Given the description of an element on the screen output the (x, y) to click on. 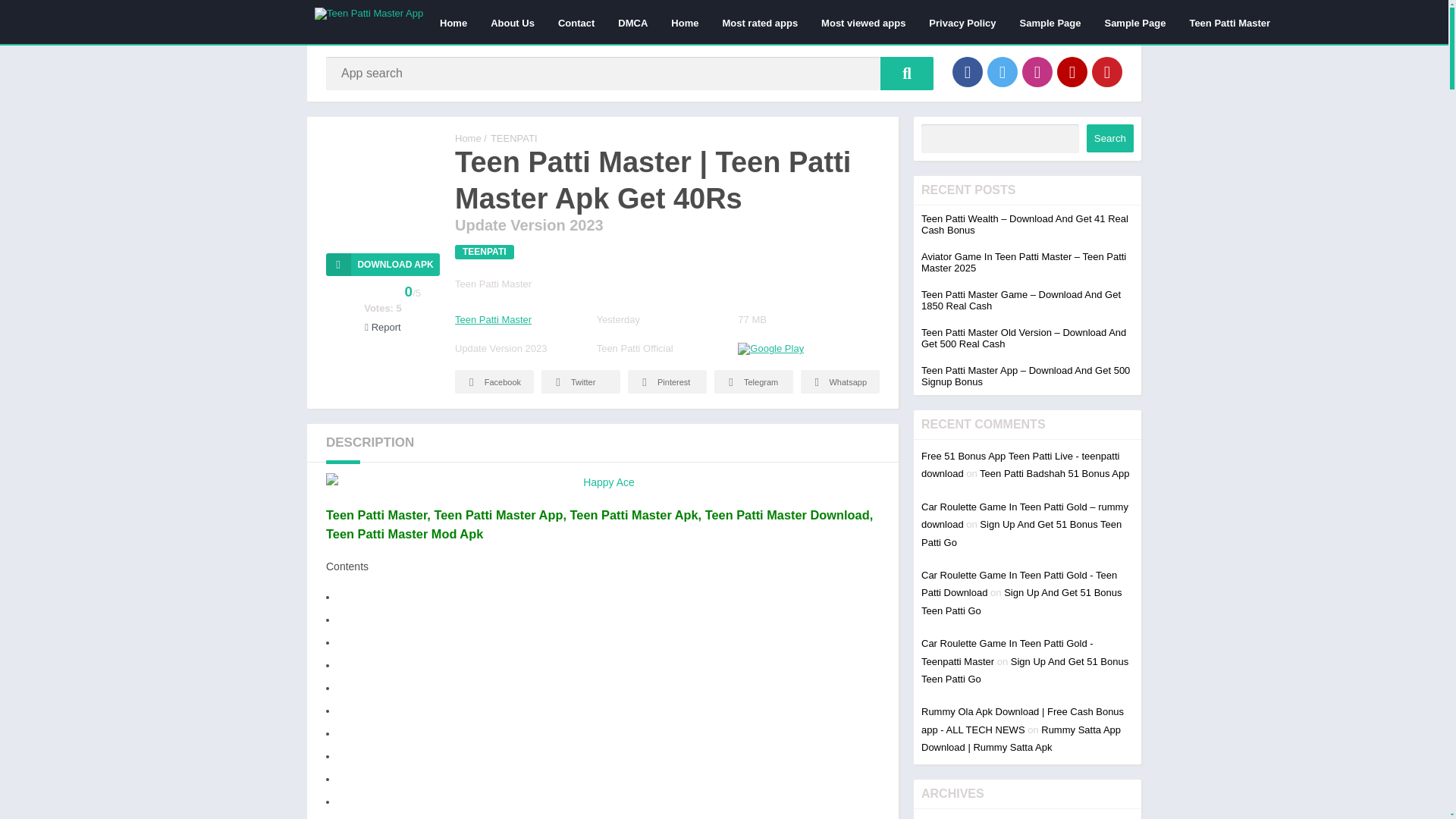
Most rated apps (759, 22)
Sample Page (1051, 22)
TEENPATI (513, 138)
Teen Patti Master (492, 319)
DMCA (633, 22)
Download APK (382, 264)
Whatsapp (839, 381)
YouTube (1072, 71)
Teen Patti  Master App (467, 138)
Home (684, 22)
